Given the description of an element on the screen output the (x, y) to click on. 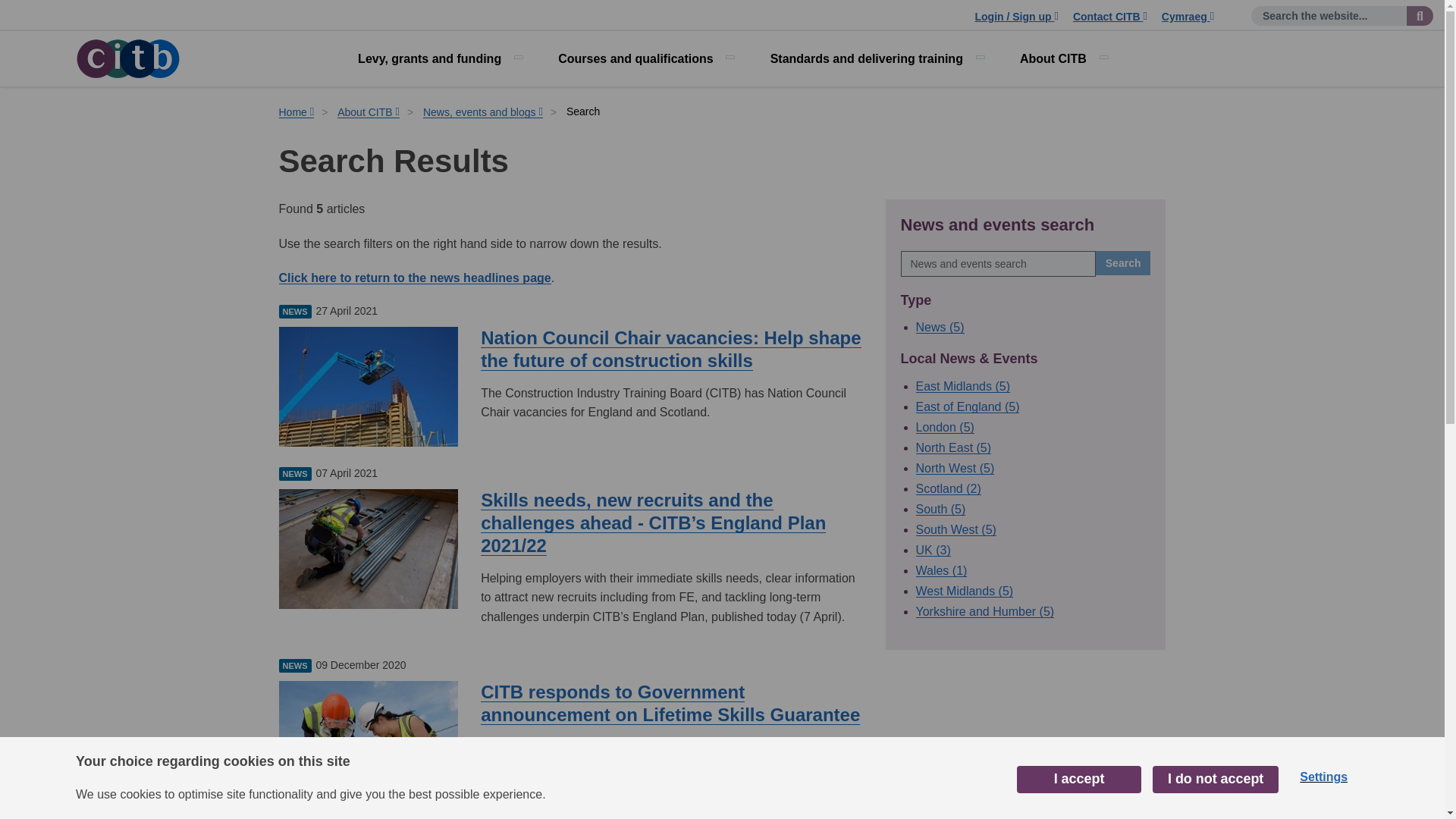
Search the website... (1419, 15)
i do not accept (1215, 780)
Search (1123, 262)
i accept (1078, 782)
Levy, grants and funding (438, 58)
Settings (1323, 777)
Search (1123, 262)
Courses and qualifications (644, 58)
Return to the News headlines page (415, 277)
